Given the description of an element on the screen output the (x, y) to click on. 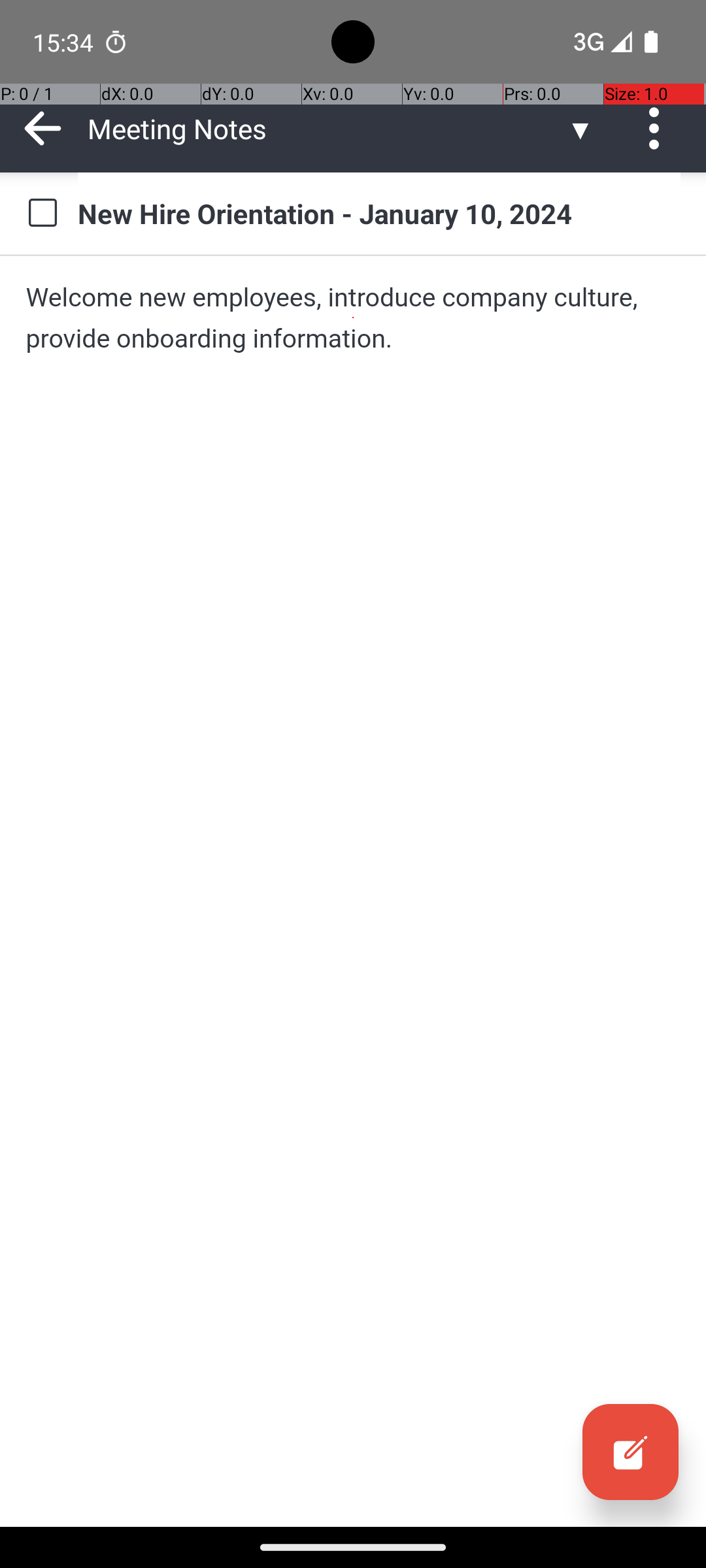
Welcome new employees, introduce company culture, provide onboarding information. Element type: android.widget.TextView (352, 317)
